Given the description of an element on the screen output the (x, y) to click on. 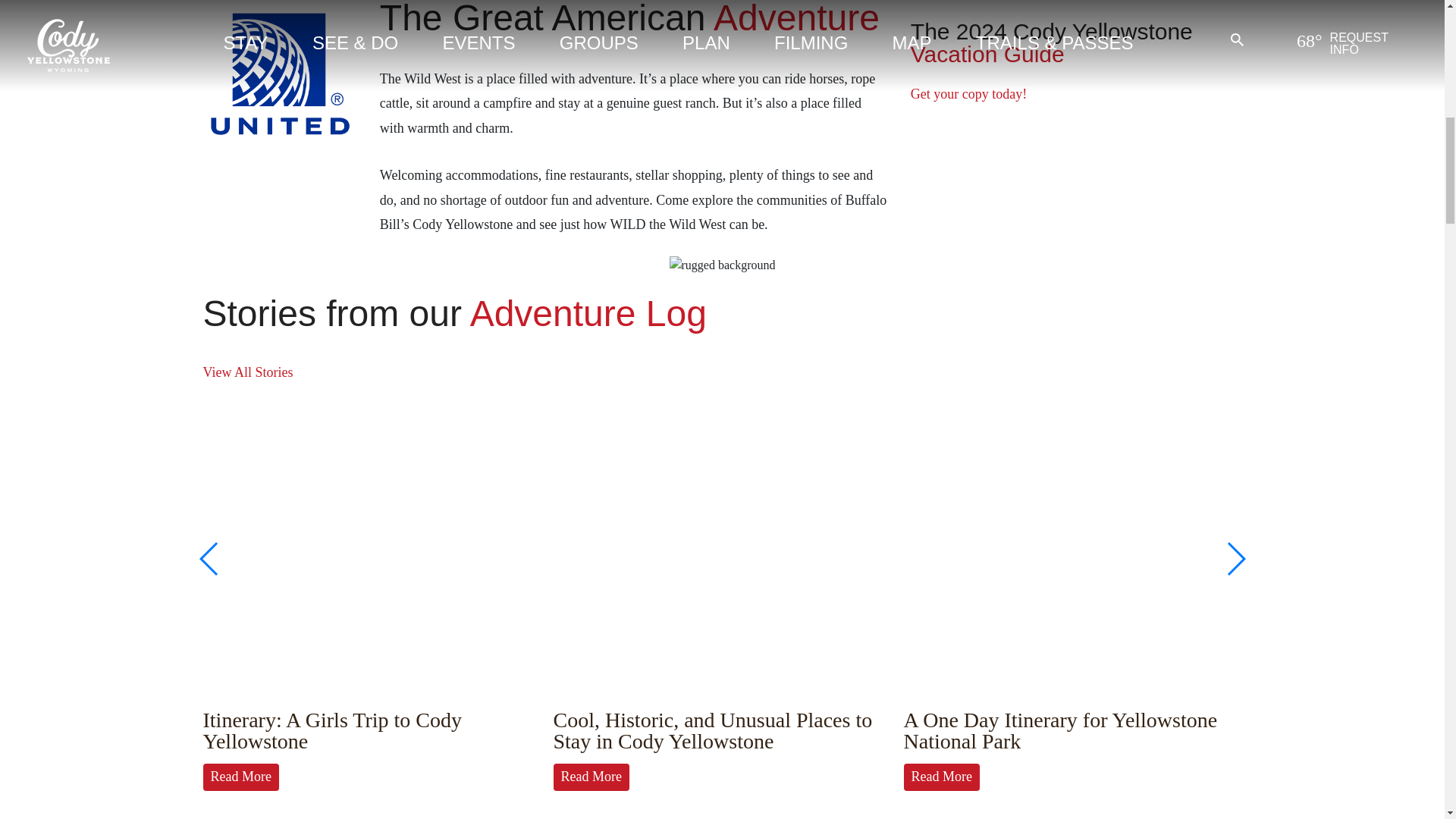
The 2024 Cody Yellowstone Vacation Guide (1076, 60)
Read More (941, 776)
Get your copy today! (968, 93)
Read More (241, 776)
View All Stories (248, 372)
Read More (590, 776)
Itinerary: A Girls Trip to Cody Yellowstone (332, 730)
A One Day Itinerary for Yellowstone National Park (1060, 730)
